Given the description of an element on the screen output the (x, y) to click on. 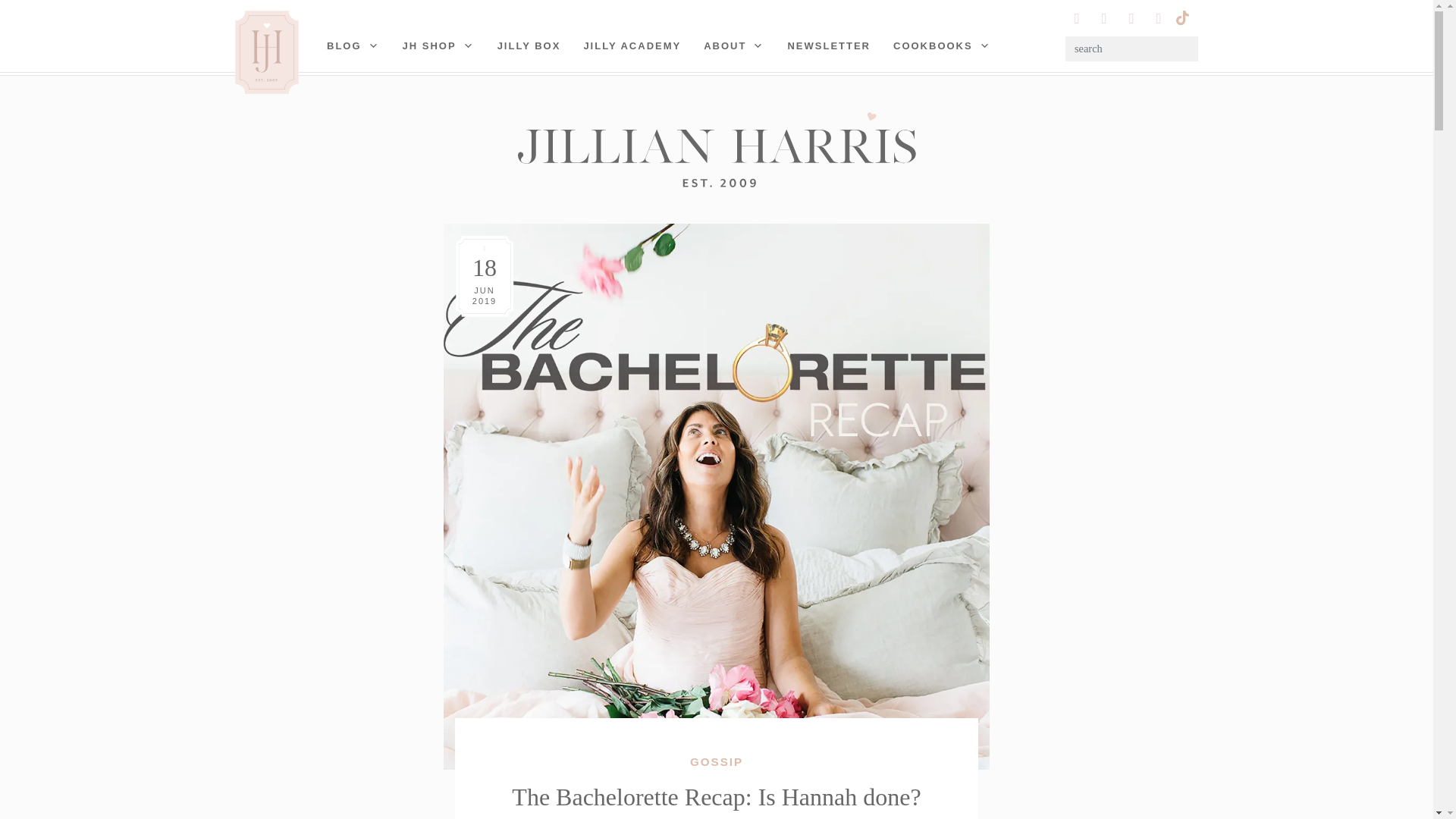
BLOG (353, 46)
Visit our tiktok account (1181, 15)
Visit our instagram account (1076, 18)
Jillian Harris Design Inc. (716, 149)
Visit our youtube account (1130, 18)
Visit our pinterest account (1104, 18)
Visit our facebook account (1158, 18)
